Given the description of an element on the screen output the (x, y) to click on. 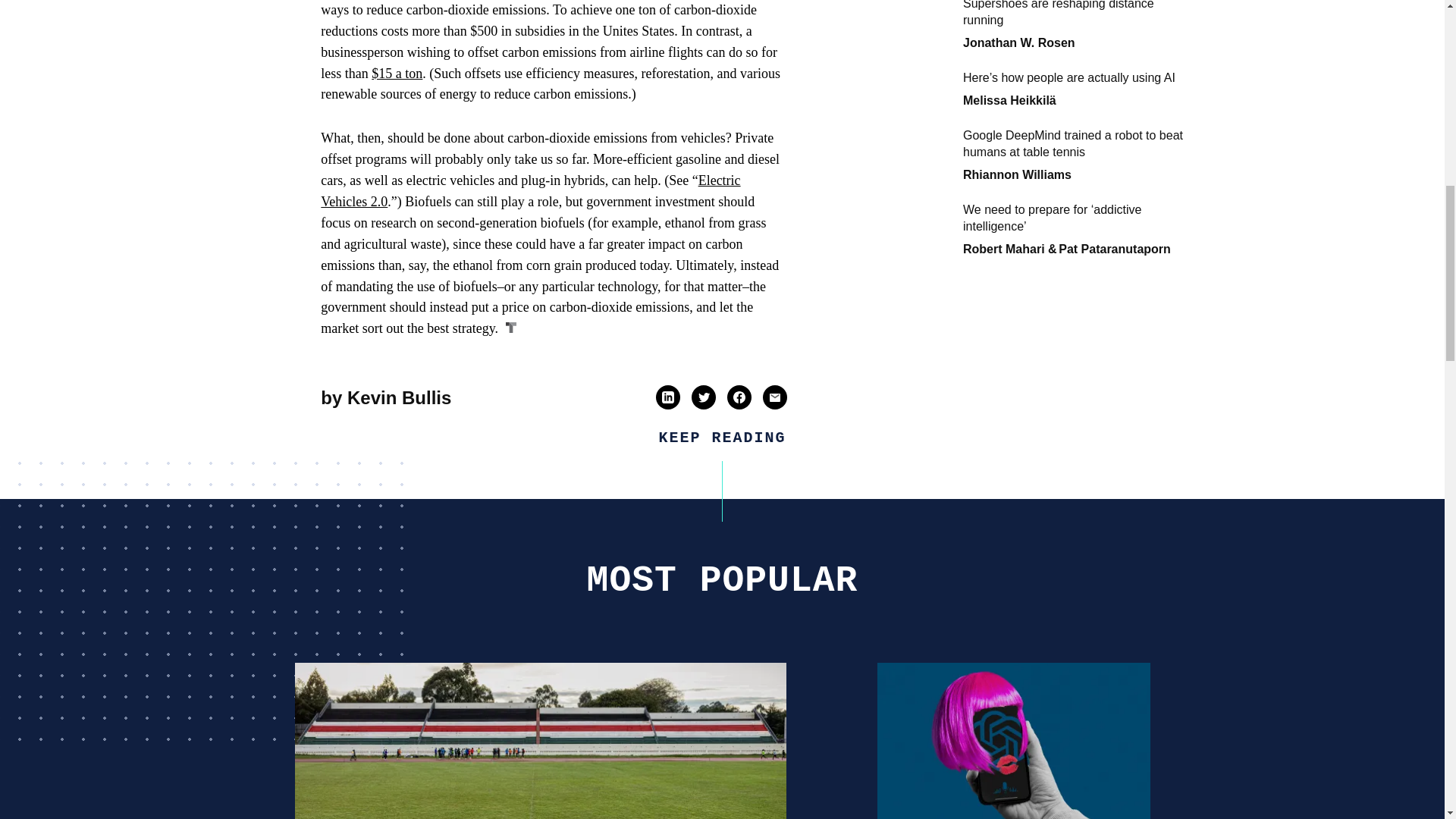
Kevin Bullis (399, 396)
Share story on twitter (703, 397)
Rhiannon Williams (1016, 13)
Supershoes are reshaping distance running (540, 740)
Electric Vehicles 2.0 (529, 190)
Share story on linkedin (668, 397)
Robert Mahari (1003, 88)
Share story on facebook (739, 397)
Pat Pataranutaporn (1114, 88)
Share story on email (774, 397)
